Given the description of an element on the screen output the (x, y) to click on. 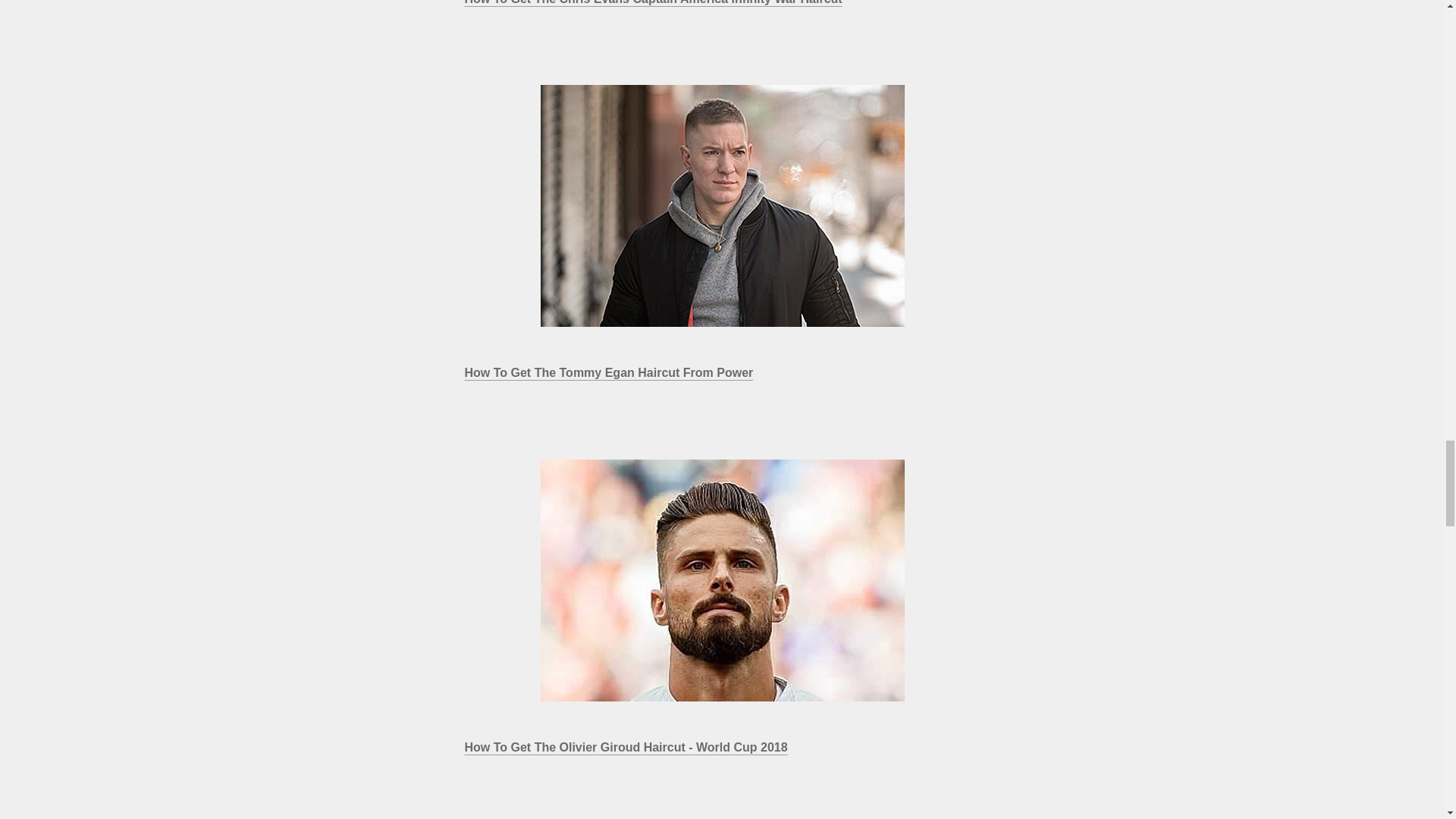
How To Get The Olivier Giroud Haircut - World Cup 2018 (721, 580)
How To Get The Tommy Egan Haircut From Power (608, 372)
How To Get The Tommy Egan Haircut From Power (721, 205)
How To Get The Olivier Giroud Haircut - World Cup 2018 (625, 747)
